Given the description of an element on the screen output the (x, y) to click on. 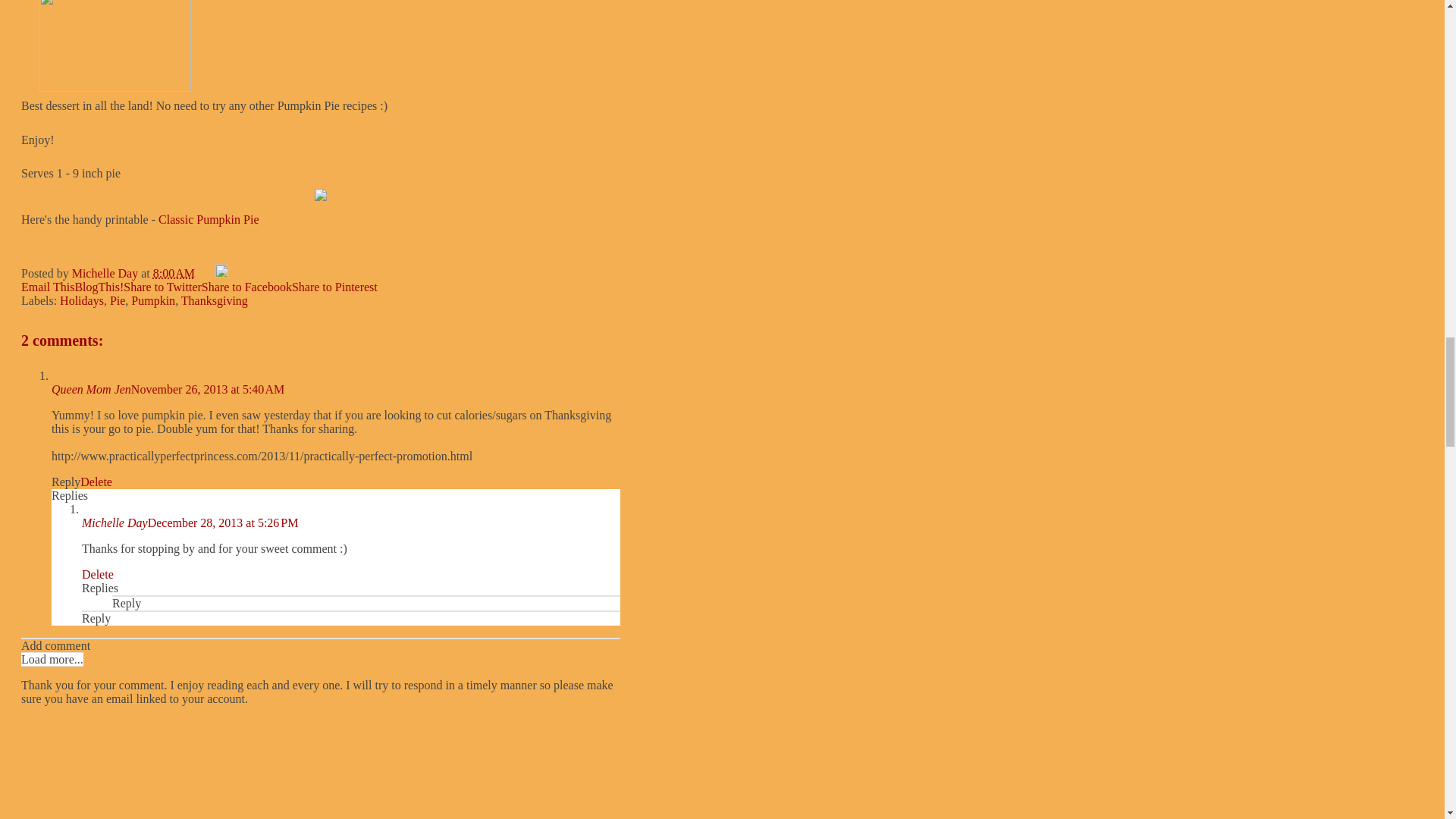
BlogThis! (98, 286)
Email This (47, 286)
Classic Pumpkin Pie (208, 219)
author profile (106, 273)
BlogThis! (98, 286)
Share to Twitter (162, 286)
Share to Twitter (162, 286)
Email Post (206, 273)
permanent link (173, 273)
Email This (47, 286)
Share to Pinterest (334, 286)
Michelle Day (106, 273)
Share to Facebook (247, 286)
Edit Post (221, 273)
